Given the description of an element on the screen output the (x, y) to click on. 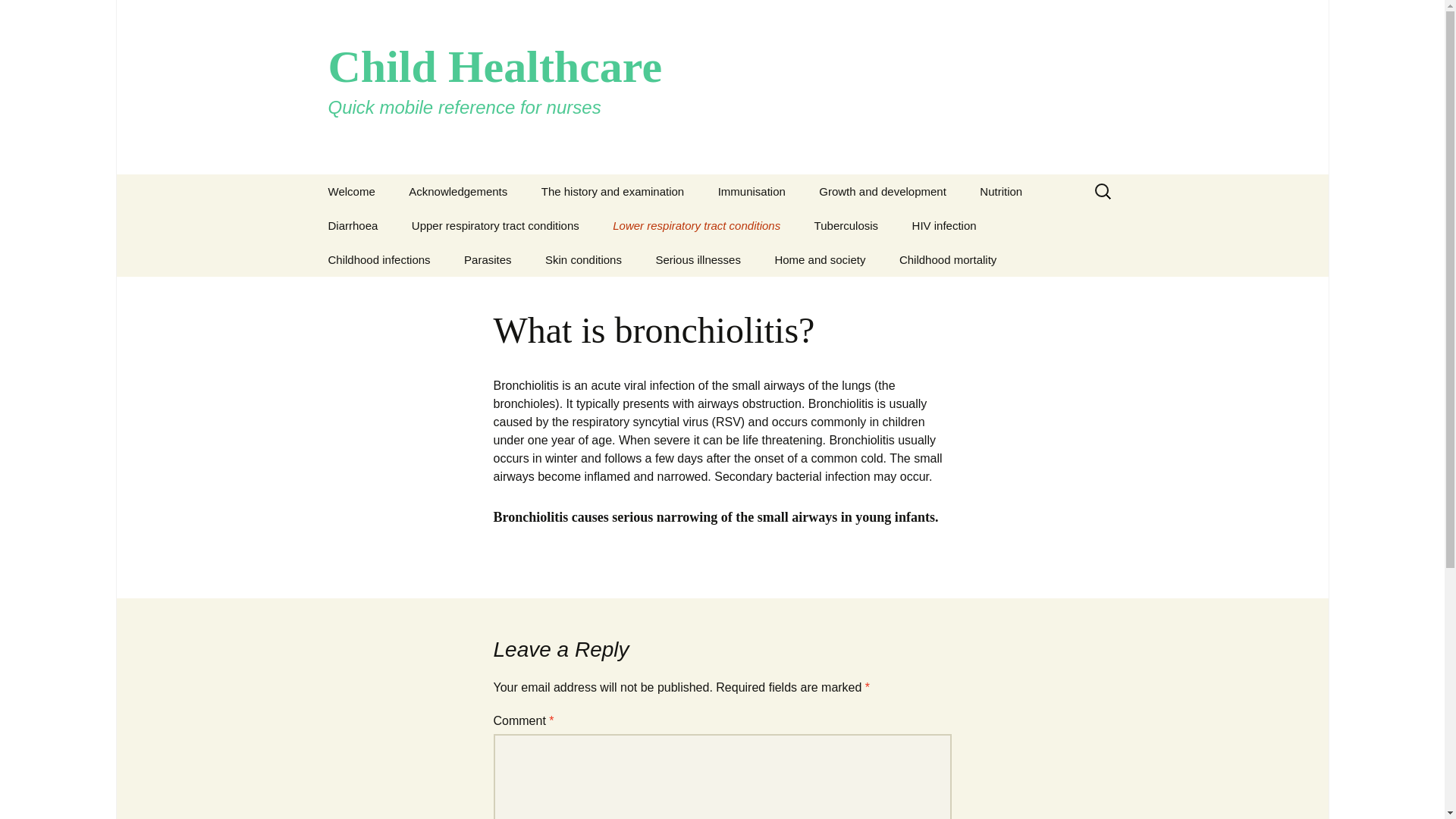
Acknowledgements (611, 191)
Welcome (457, 191)
Objectives (351, 191)
